Given the description of an element on the screen output the (x, y) to click on. 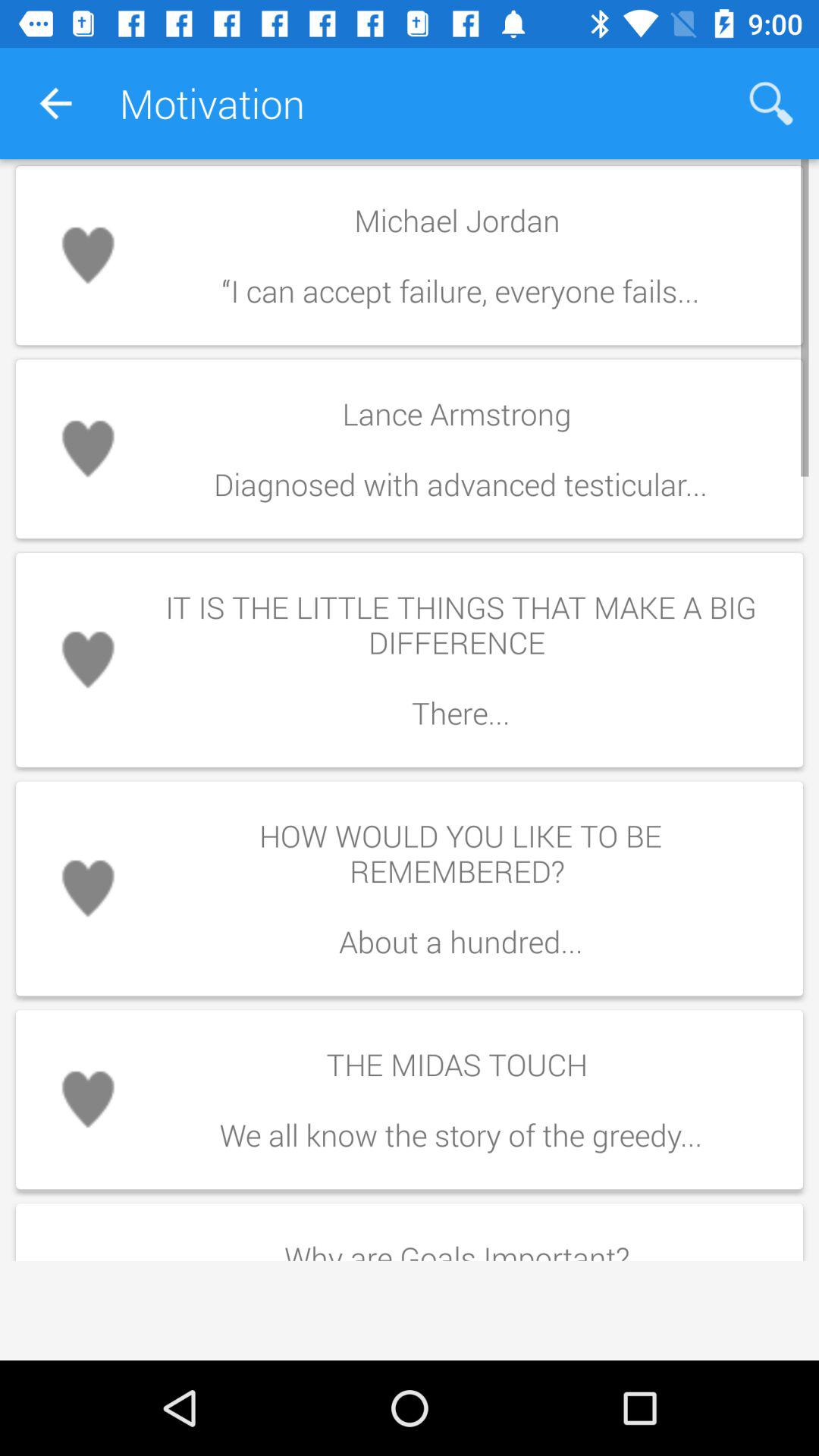
tap michael jordan  icon (460, 255)
